Given the description of an element on the screen output the (x, y) to click on. 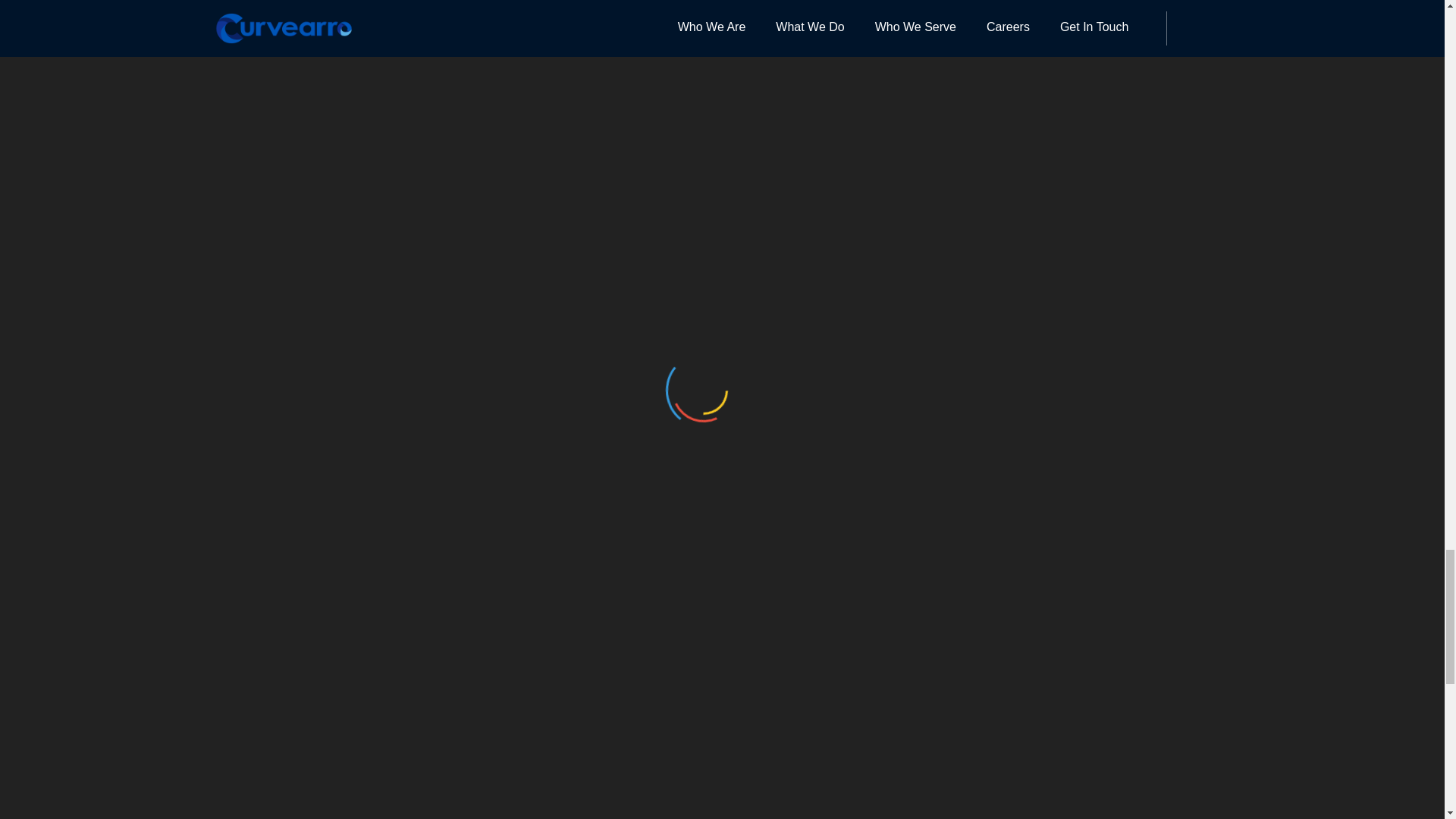
Top benefits of digital marketing strategies for Restaurants (1042, 711)
35 Steps To Mastering Digital Marketing (340, 698)
digital marketing (395, 4)
By Manoj Nirala (335, 241)
10 Tips for Optimizing Your Social Media Dashboard (712, 698)
